Given the description of an element on the screen output the (x, y) to click on. 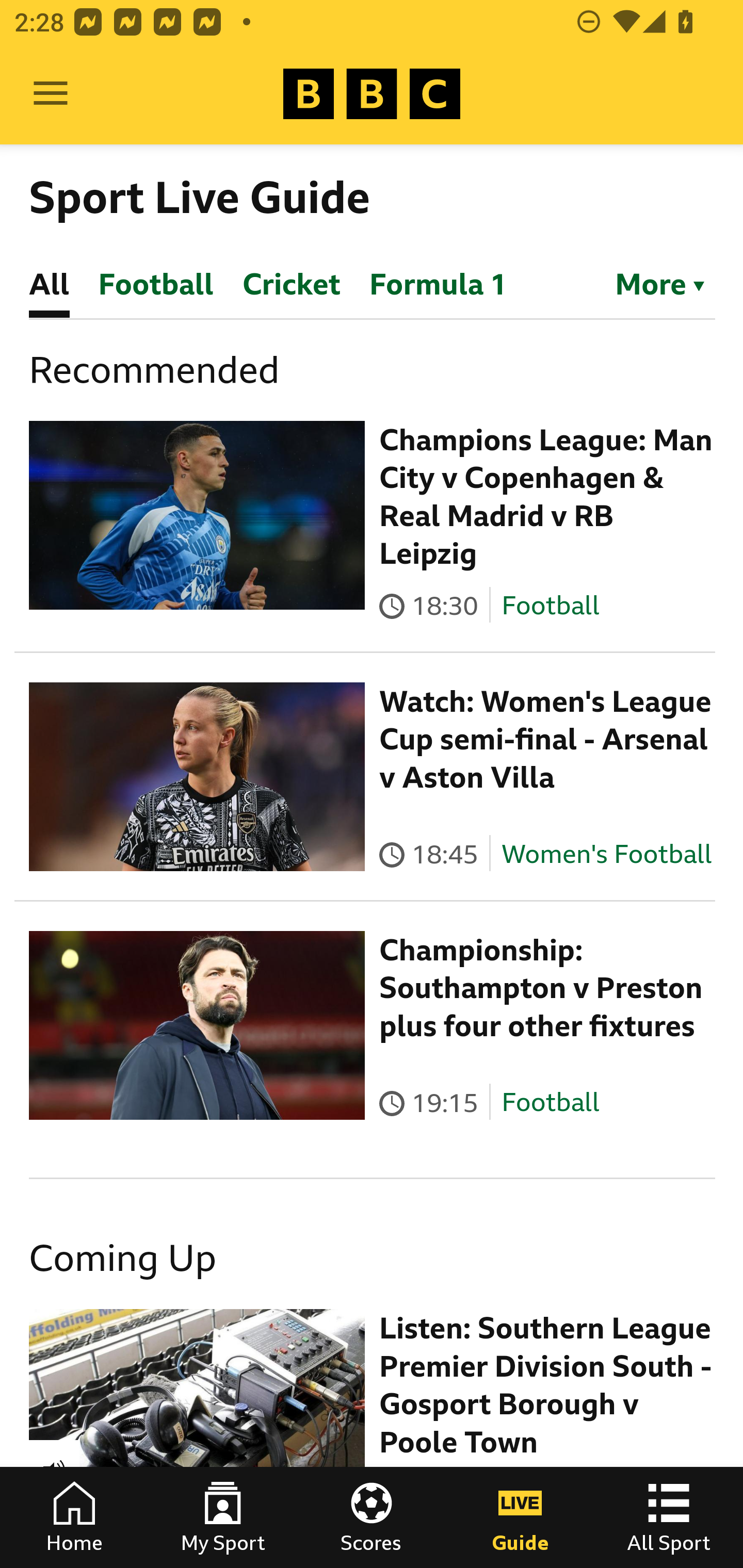
Open Menu (50, 93)
Football (550, 604)
Women's Football (606, 853)
Football (550, 1102)
Home (74, 1517)
My Sport (222, 1517)
Scores (371, 1517)
All Sport (668, 1517)
